Given the description of an element on the screen output the (x, y) to click on. 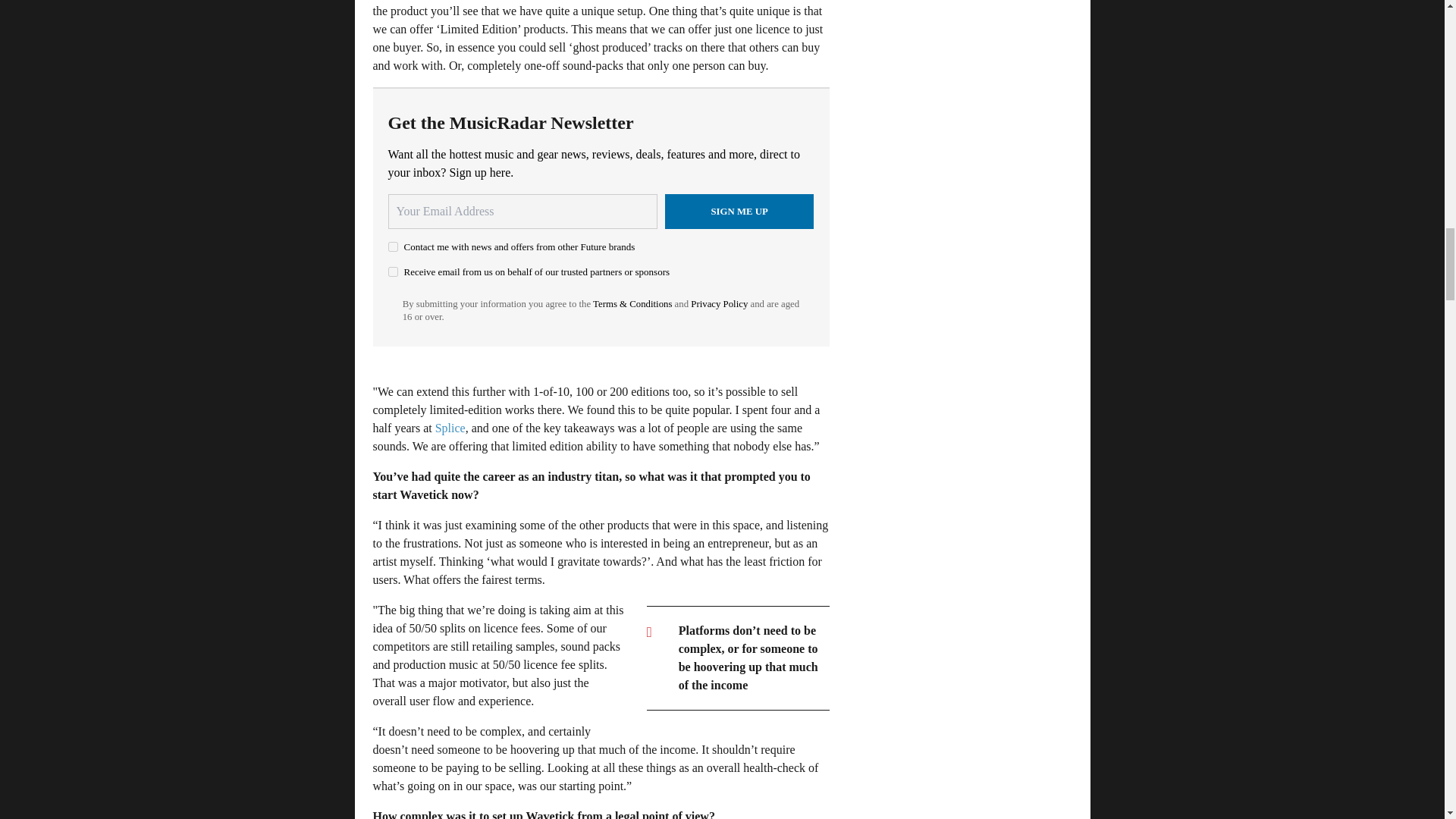
on (392, 271)
Sign me up (739, 211)
on (392, 246)
